Given the description of an element on the screen output the (x, y) to click on. 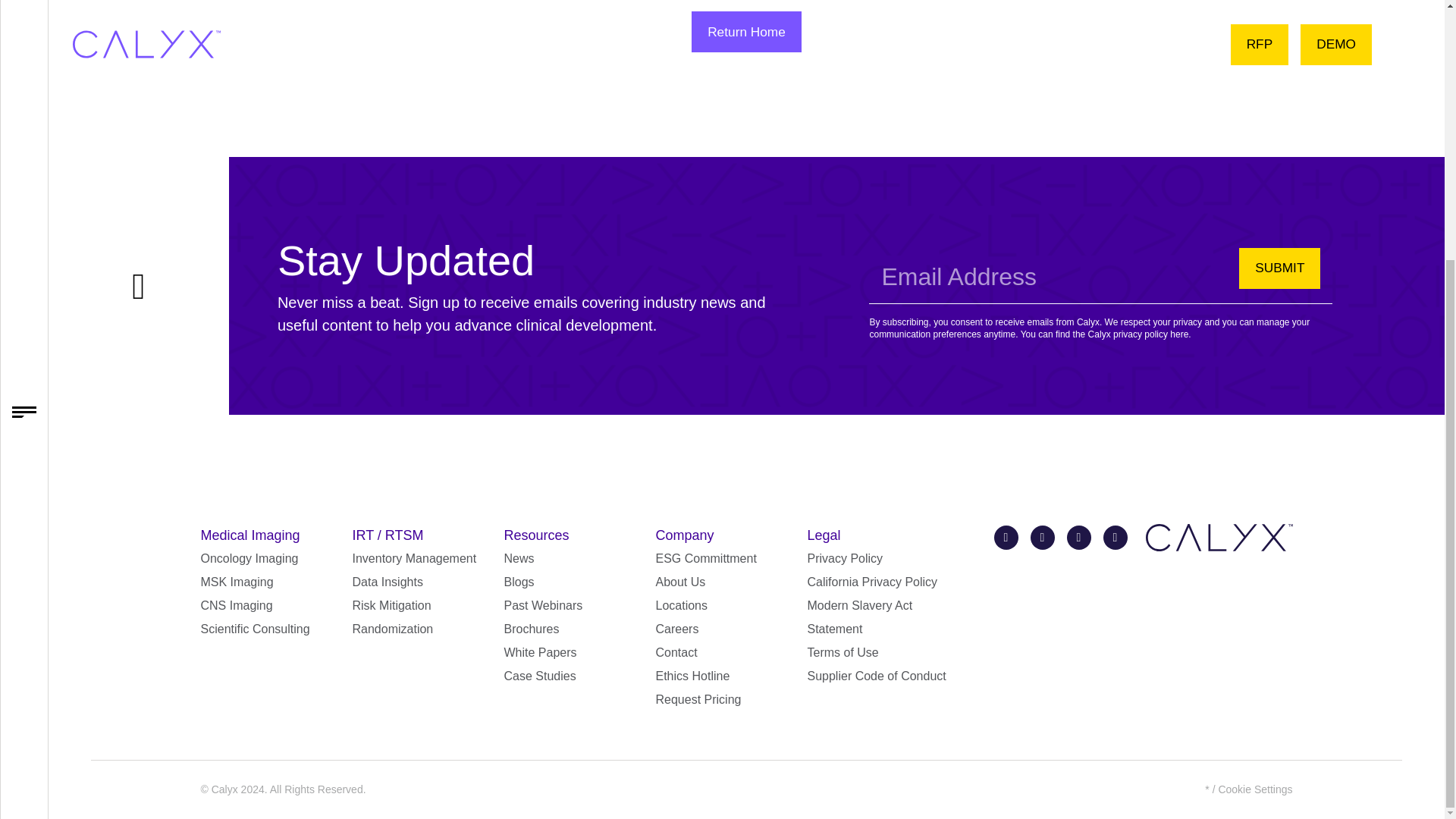
Twitter (1004, 537)
WeChat (1114, 537)
Linkedin (1077, 537)
Facebook (1041, 537)
